Given the description of an element on the screen output the (x, y) to click on. 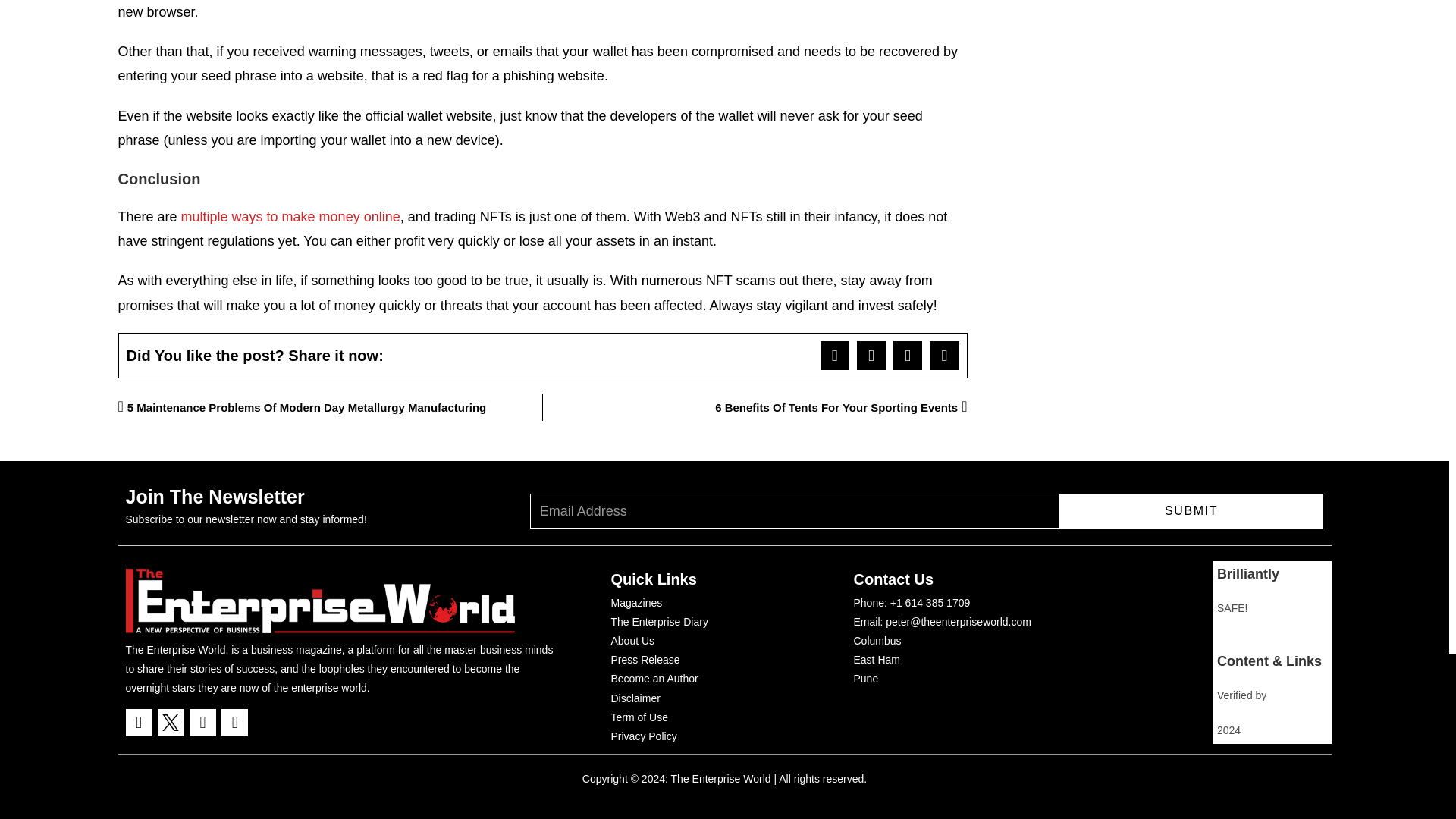
multiple ways to make money online (290, 216)
SUBMIT (1191, 510)
6 Benefits Of Tents For Your Sporting Events (755, 406)
